Given the description of an element on the screen output the (x, y) to click on. 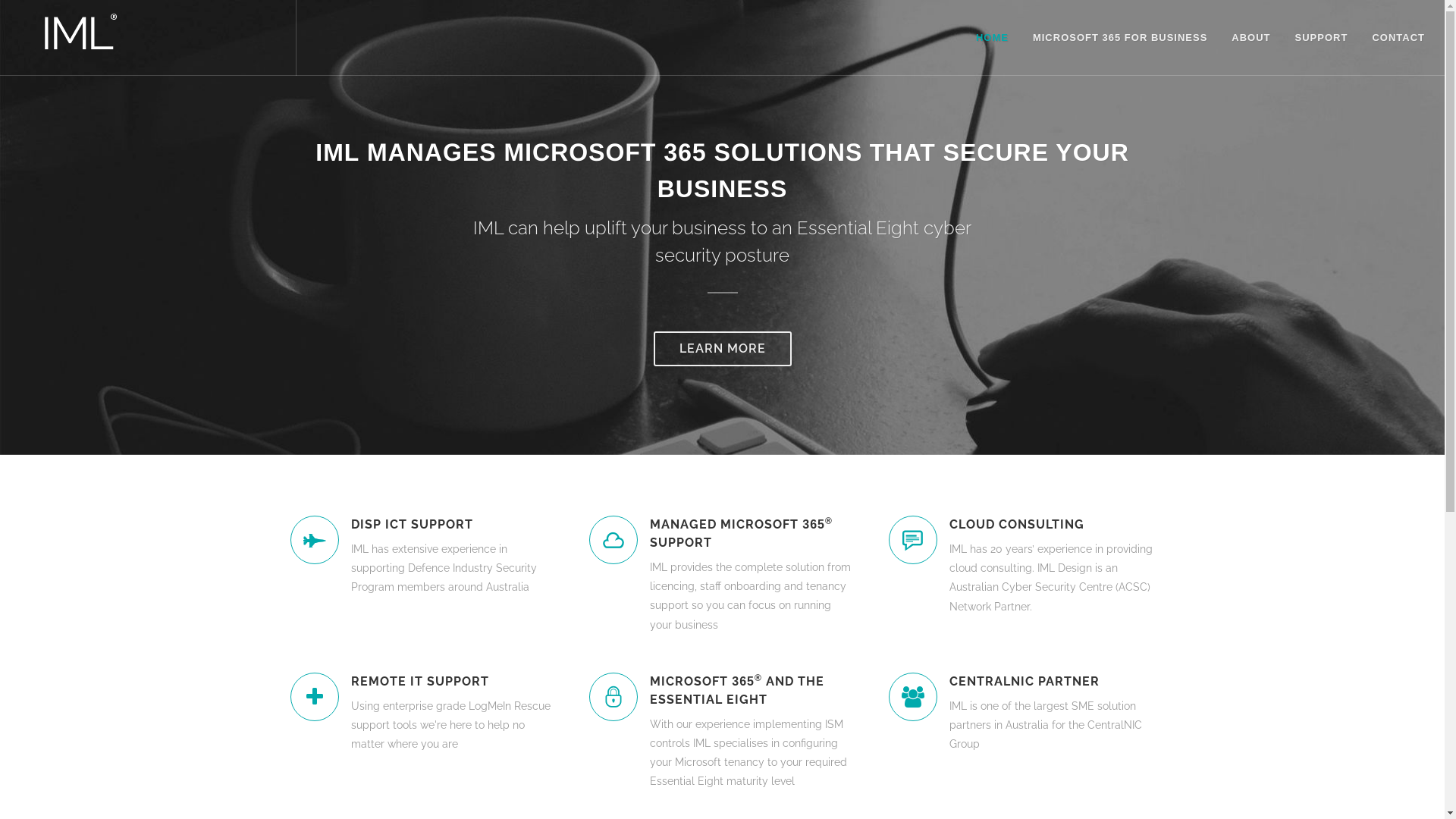
CENTRALNIC PARTNER Element type: text (1051, 681)
HOME Element type: text (991, 37)
MICROSOFT 365 FOR BUSINESS Element type: text (1119, 37)
CONTACT Element type: text (1398, 37)
REMOTE IT SUPPORT Element type: text (452, 681)
SUPPORT Element type: text (1321, 37)
LEARN MORE Element type: text (722, 347)
CLOUD CONSULTING Element type: text (1051, 524)
DISP ICT SUPPORT Element type: text (452, 524)
ABOUT Element type: text (1250, 37)
